Given the description of an element on the screen output the (x, y) to click on. 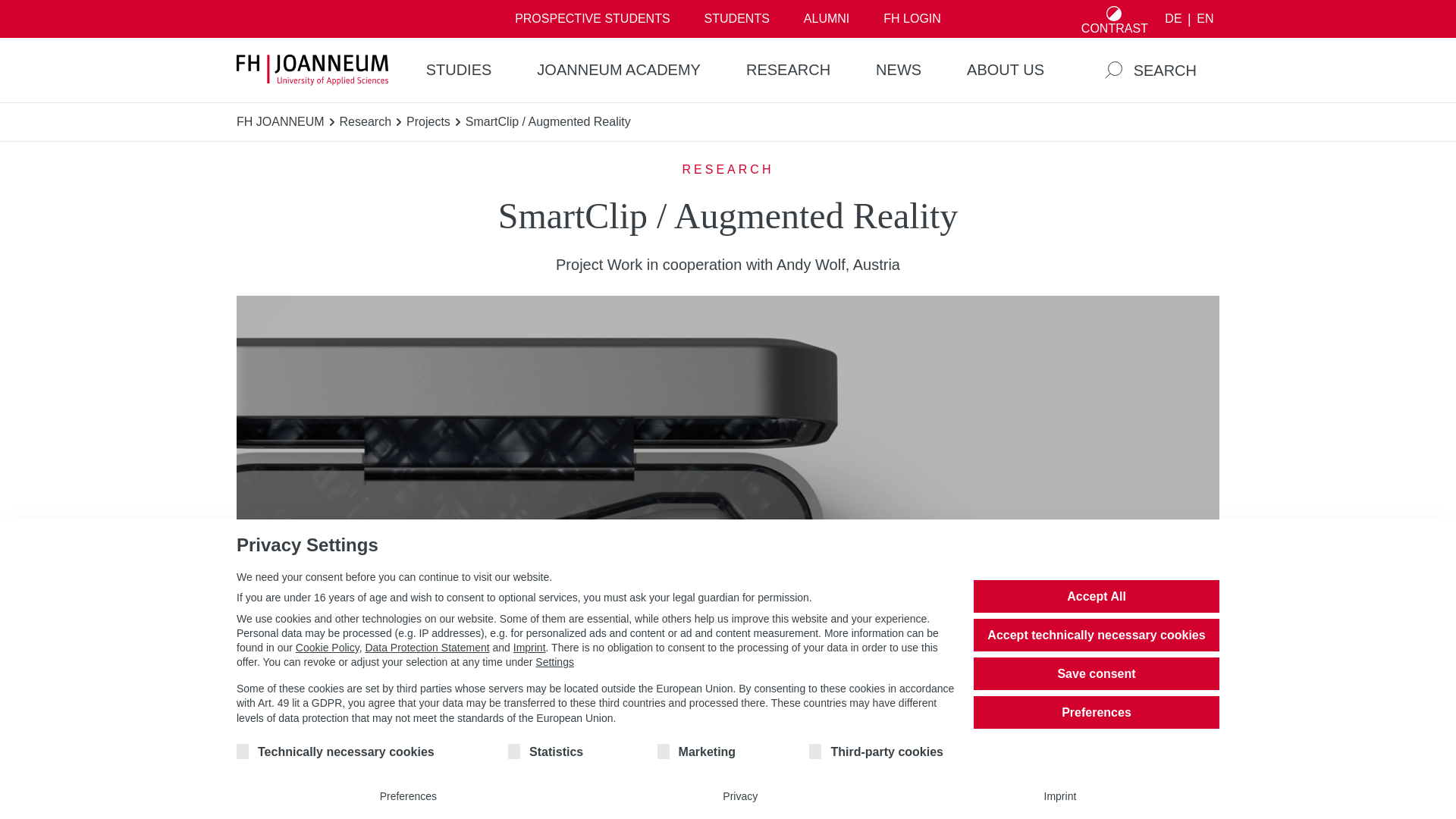
JOANNEUM ACADEMY (618, 69)
Go to Research. (365, 121)
NEWS (898, 69)
Go to Projects. (427, 121)
STUDIES (459, 69)
CONTRAST (1114, 18)
RESEARCH (788, 69)
DE (1173, 18)
SEARCH (1150, 69)
Go to FH JOANNEUM. (279, 121)
